Given the description of an element on the screen output the (x, y) to click on. 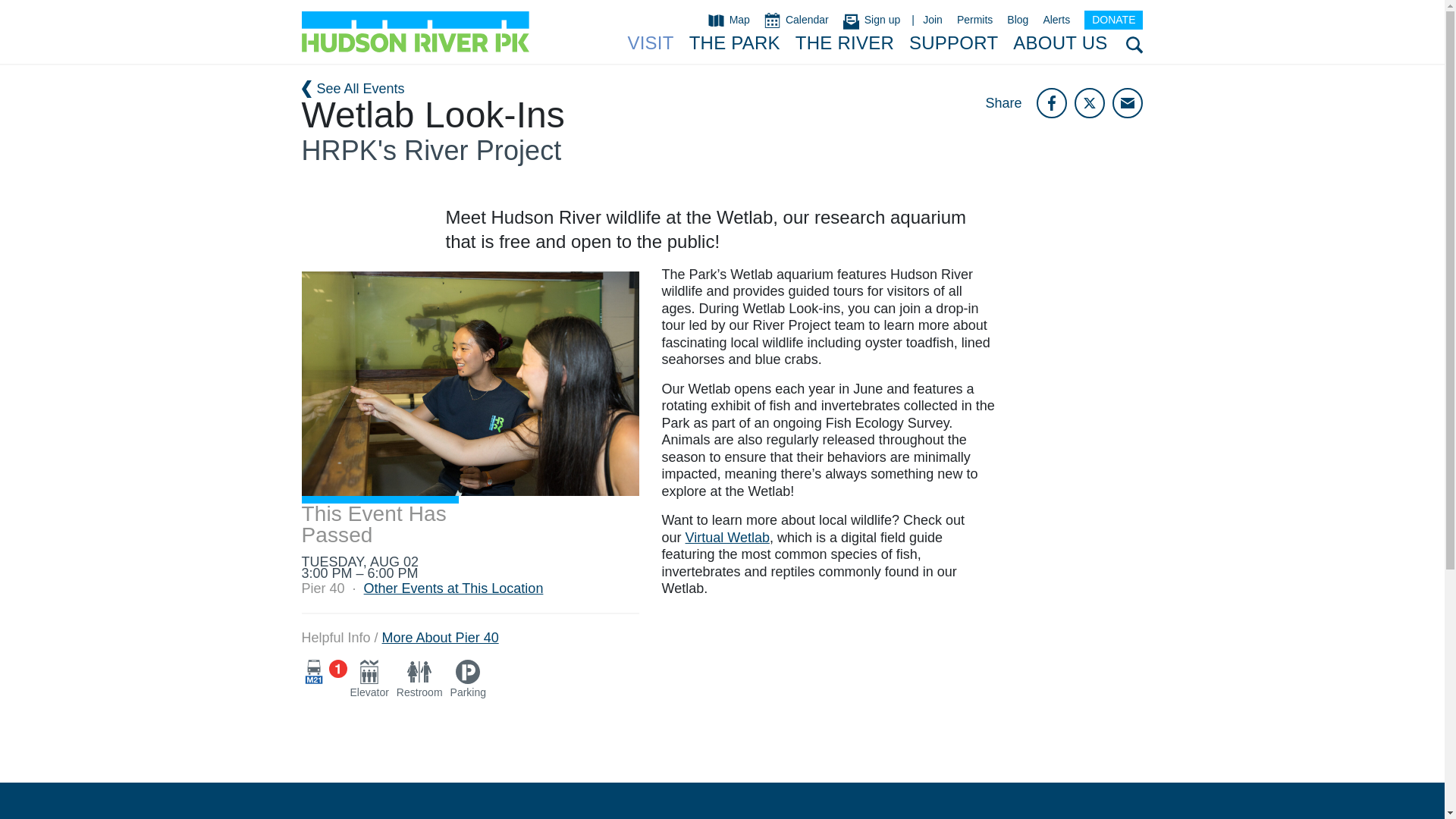
THE RIVER (843, 43)
Join (932, 19)
SUPPORT (952, 43)
Alerts (1056, 19)
THE PARK (734, 43)
Map (728, 19)
Permits (974, 19)
Sign up (871, 19)
Calendar (796, 19)
DONATE (1113, 19)
VISIT (649, 43)
Subscribe (878, 20)
Blog (1017, 19)
